Given the description of an element on the screen output the (x, y) to click on. 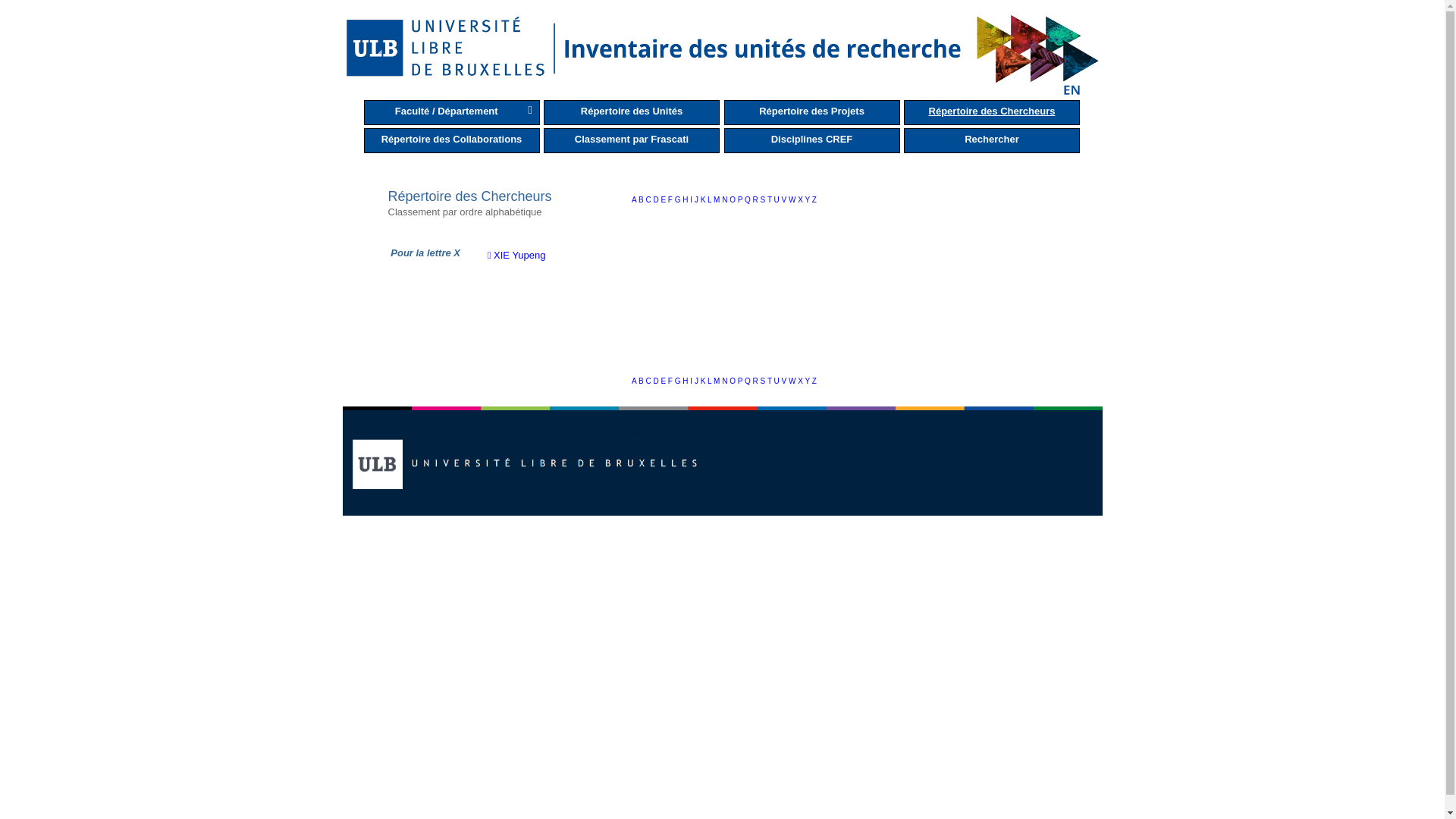
O Element type: text (733, 199)
T Element type: text (770, 199)
P Element type: text (740, 380)
Q Element type: text (748, 199)
I Element type: text (692, 199)
Classement par Frascati Element type: text (631, 140)
Y Element type: text (808, 199)
L Element type: text (710, 380)
G Element type: text (678, 380)
R Element type: text (756, 199)
F Element type: text (671, 380)
J Element type: text (697, 199)
G Element type: text (678, 199)
K Element type: text (703, 199)
J Element type: text (697, 380)
I Element type: text (692, 380)
E Element type: text (663, 380)
Rechercher Element type: text (991, 140)
E Element type: text (663, 199)
H Element type: text (686, 380)
O Element type: text (733, 380)
X Element type: text (800, 380)
P Element type: text (740, 199)
K Element type: text (703, 380)
W Element type: text (792, 199)
A Element type: text (634, 199)
H Element type: text (686, 199)
S Element type: text (763, 199)
Q Element type: text (748, 380)
U Element type: text (777, 199)
Z Element type: text (814, 199)
R Element type: text (756, 380)
X Element type: text (800, 199)
T Element type: text (770, 380)
W Element type: text (792, 380)
L Element type: text (710, 199)
A Element type: text (634, 380)
Y Element type: text (808, 380)
C Element type: text (648, 199)
Disciplines CREF Element type: text (811, 140)
F Element type: text (671, 199)
C Element type: text (648, 380)
D Element type: text (656, 199)
V Element type: text (784, 199)
N Element type: text (725, 380)
B Element type: text (641, 380)
V Element type: text (784, 380)
U Element type: text (777, 380)
N Element type: text (725, 199)
Z Element type: text (814, 380)
D Element type: text (656, 380)
M Element type: text (717, 380)
B Element type: text (641, 199)
Site en anglais Element type: hover (1071, 89)
M Element type: text (717, 199)
S Element type: text (763, 380)
